Given the description of an element on the screen output the (x, y) to click on. 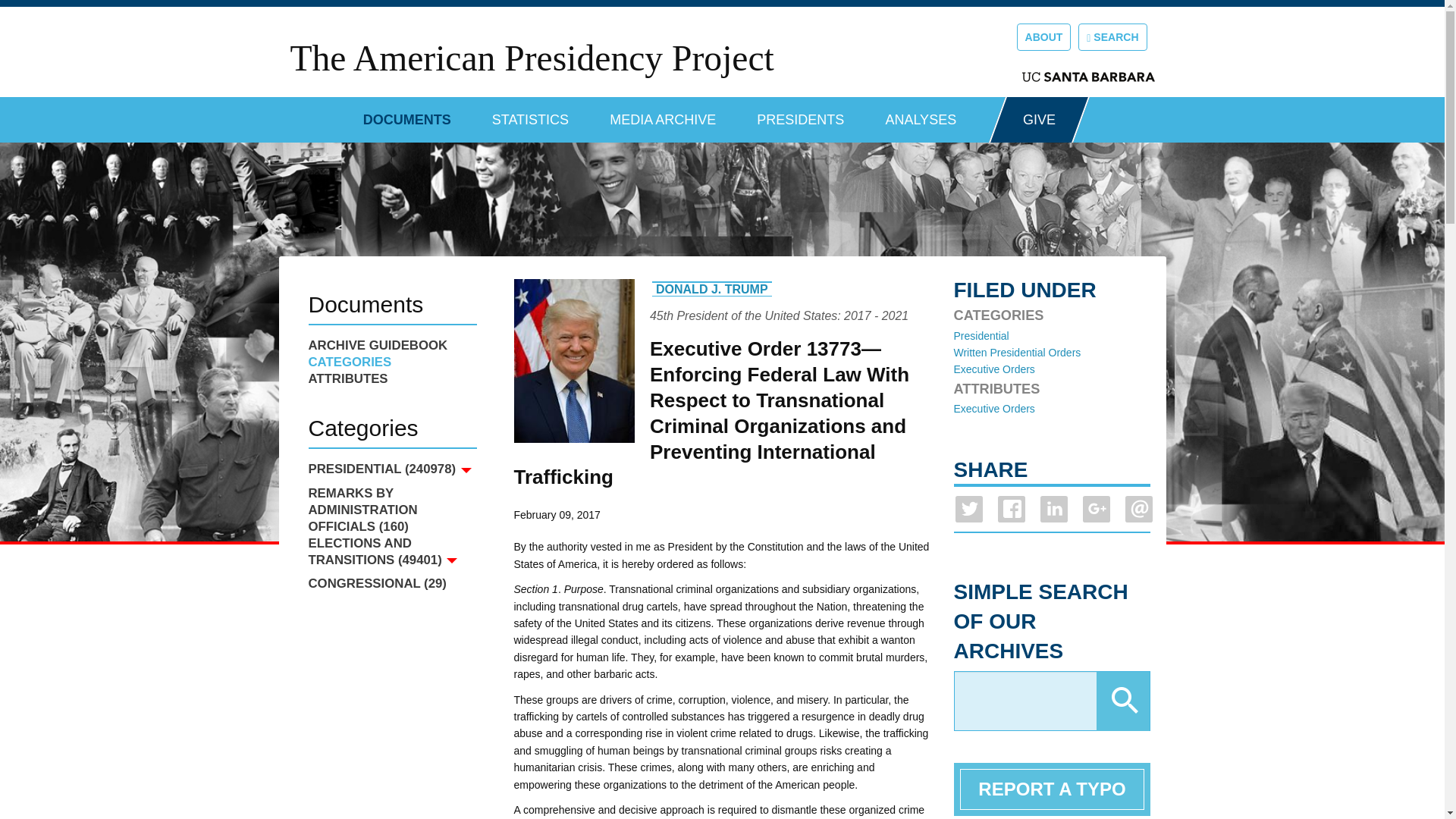
MEDIA ARCHIVE (663, 113)
PRESIDENTS (800, 113)
The American Presidency Project (531, 57)
ATTRIBUTES (391, 379)
 SEARCH (1112, 36)
ARCHIVE GUIDEBOOK (391, 345)
GIVE (1038, 119)
CATEGORIES (391, 362)
STATISTICS (530, 113)
ANALYSES (920, 113)
DOCUMENTS (406, 113)
ABOUT (1043, 36)
